Given the description of an element on the screen output the (x, y) to click on. 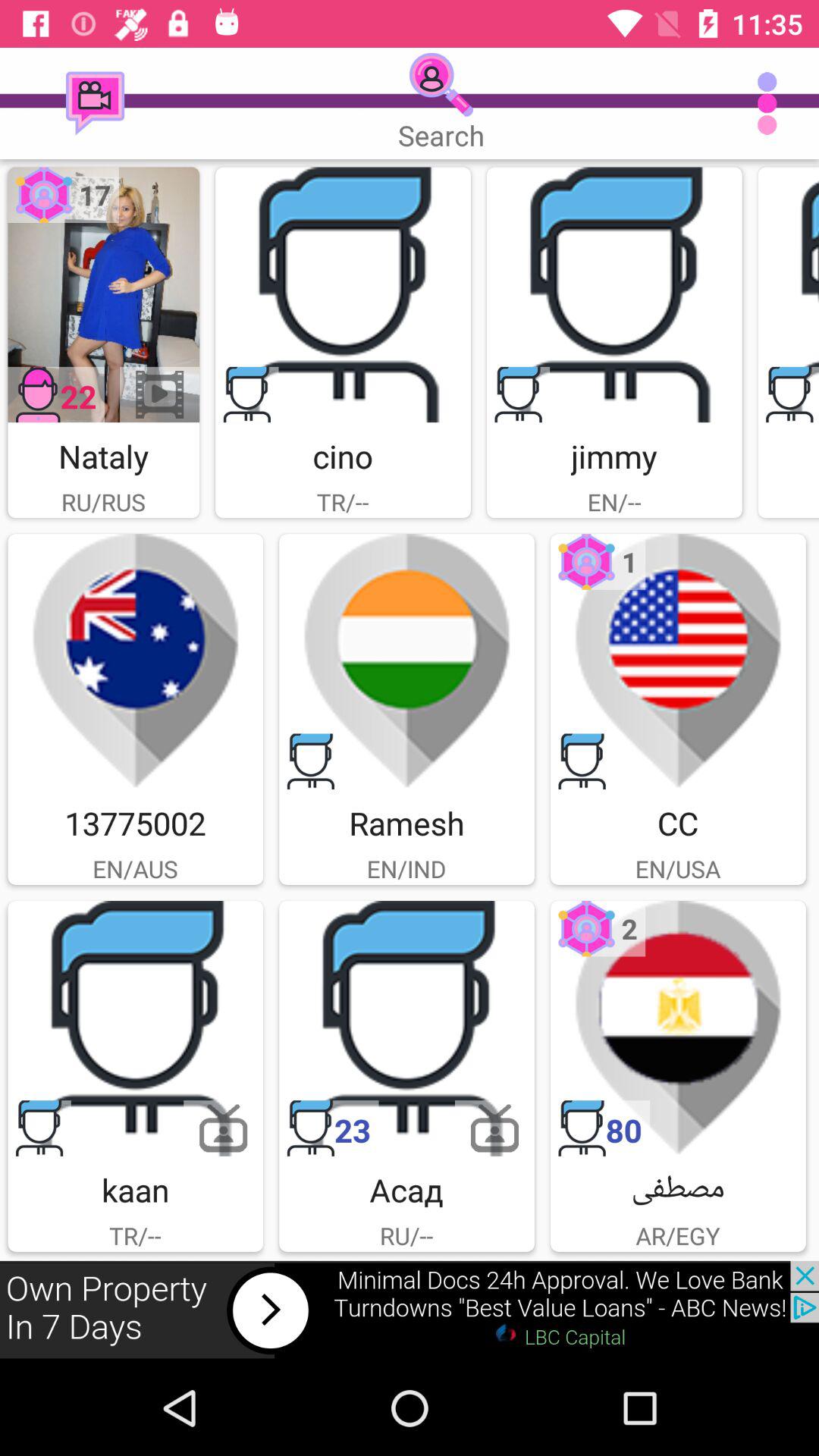
show kaan details (135, 1028)
